Given the description of an element on the screen output the (x, y) to click on. 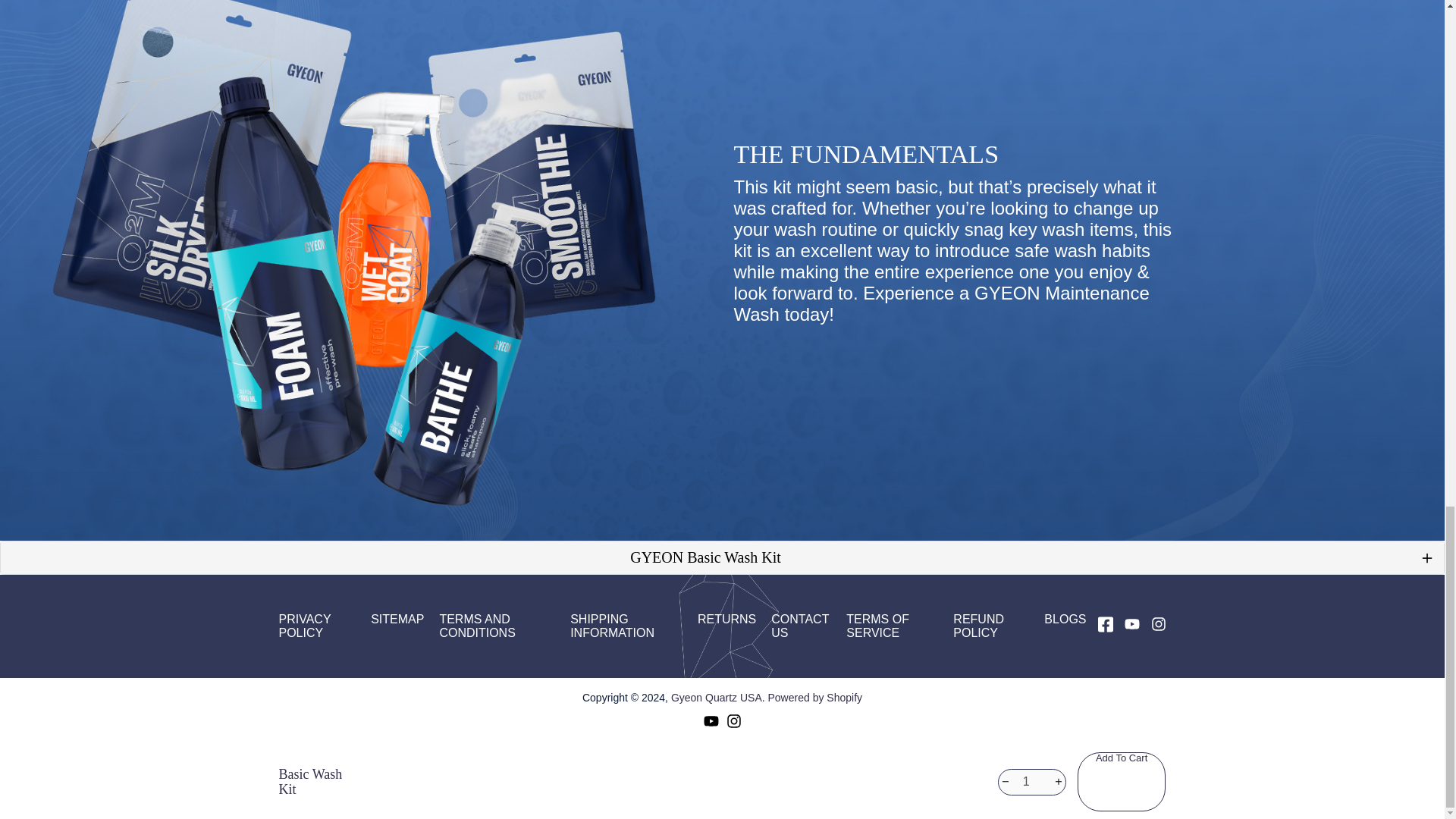
1 (1031, 782)
